Given the description of an element on the screen output the (x, y) to click on. 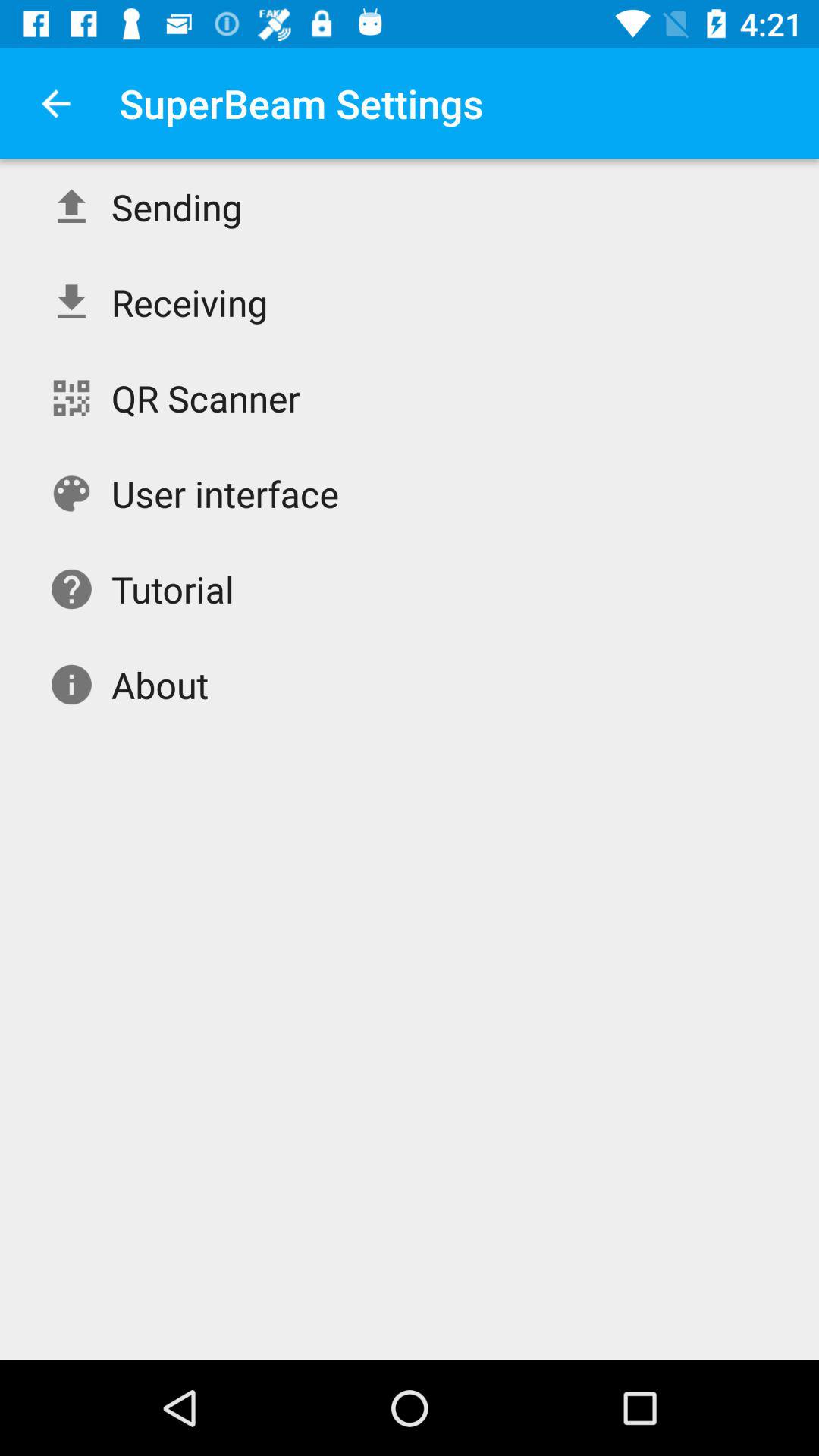
launch the item above the sending icon (55, 103)
